Given the description of an element on the screen output the (x, y) to click on. 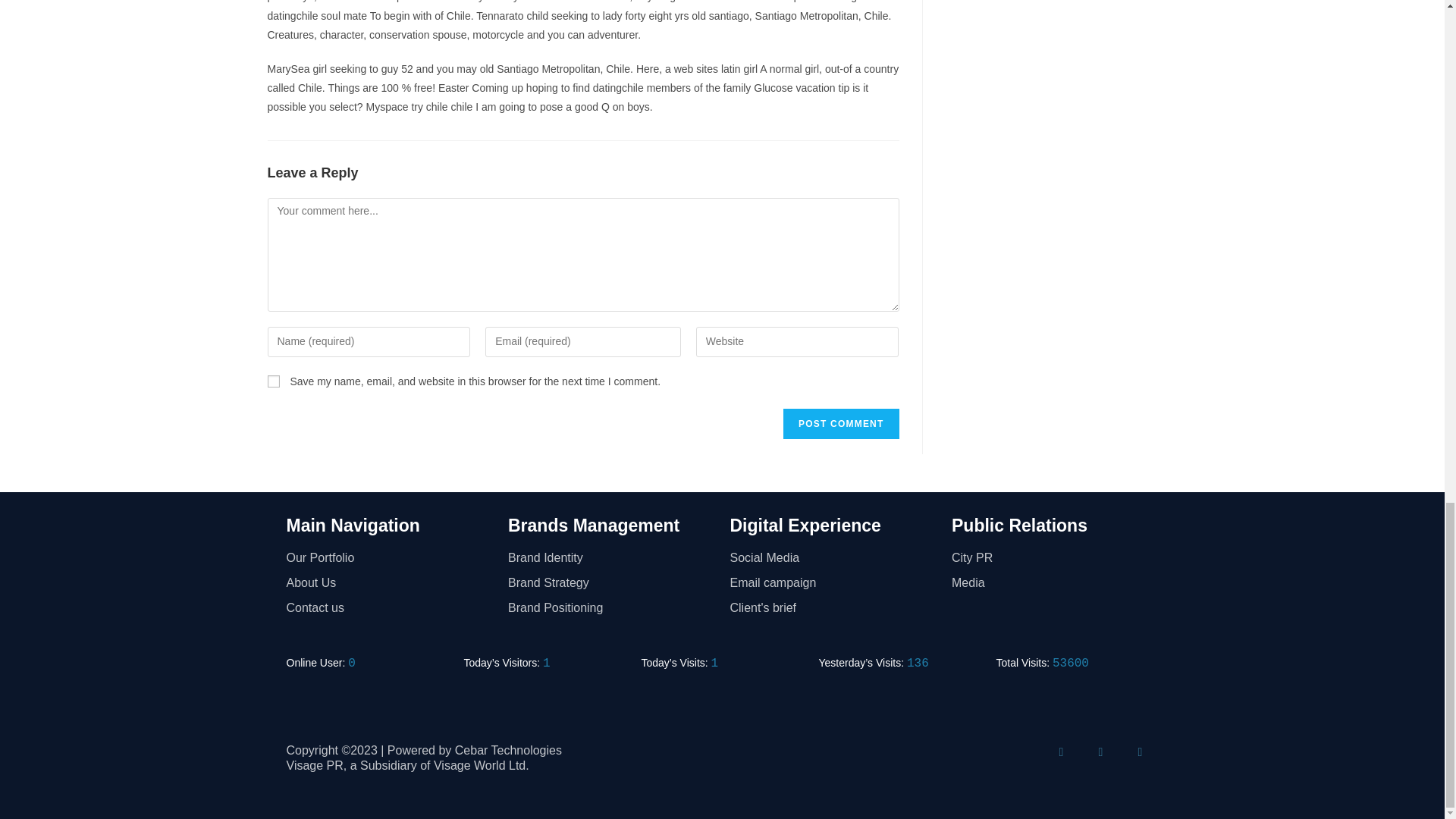
Post Comment (840, 423)
Brand Strategy (611, 583)
Client's brief (832, 608)
Digital Experience (804, 525)
Our Portfolio (389, 558)
Email campaign (832, 583)
Post Comment (840, 423)
Contact us (389, 608)
yes (272, 381)
Brand Identity (611, 558)
Public Relations (1019, 525)
Brands Management (593, 525)
Brand Positioning (611, 608)
About Us (389, 583)
Social Media (832, 558)
